Given the description of an element on the screen output the (x, y) to click on. 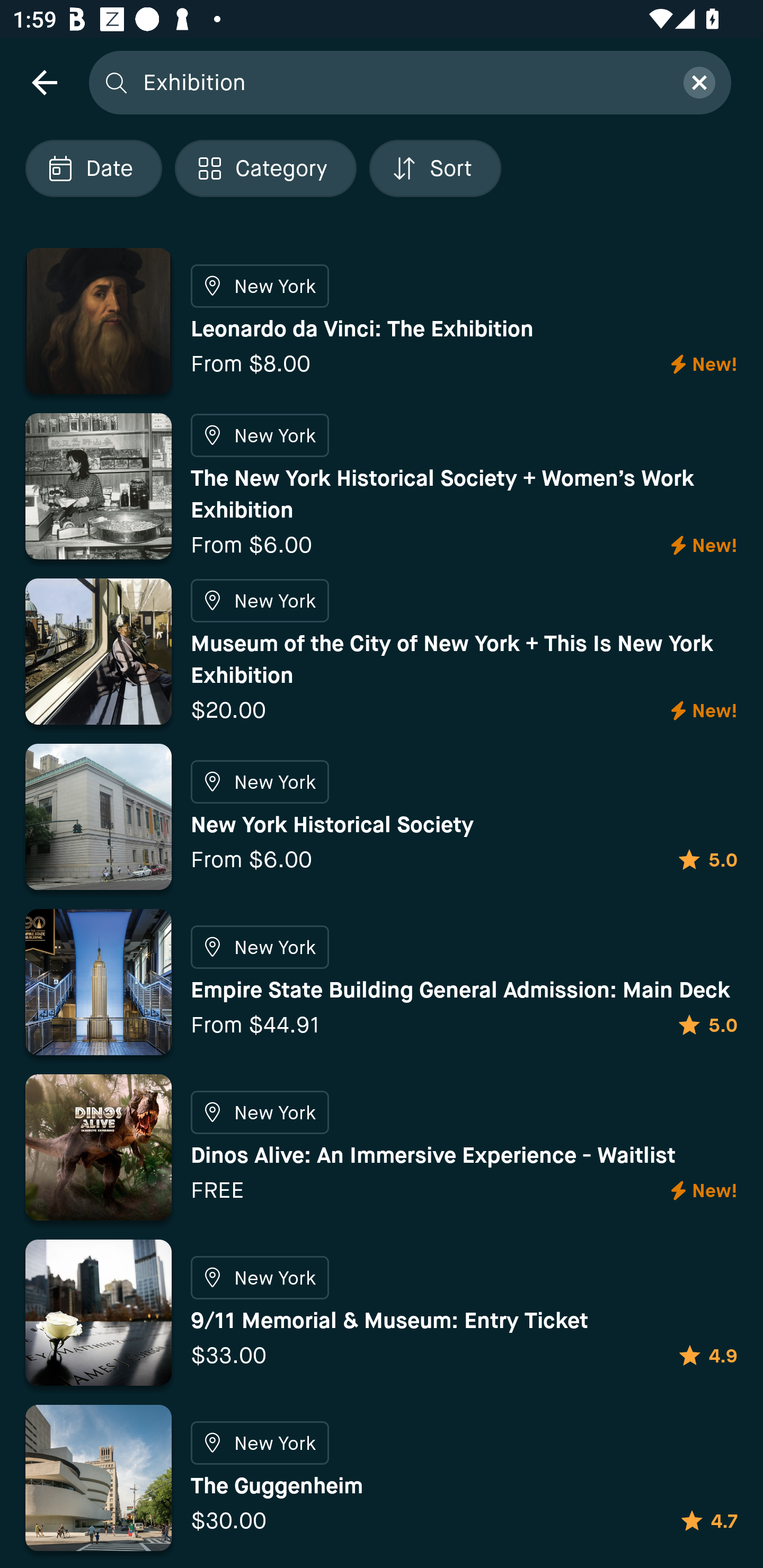
navigation icon (44, 81)
Exhibition (402, 81)
Localized description Date (93, 168)
Localized description Category (265, 168)
Localized description Sort (435, 168)
